Given the description of an element on the screen output the (x, y) to click on. 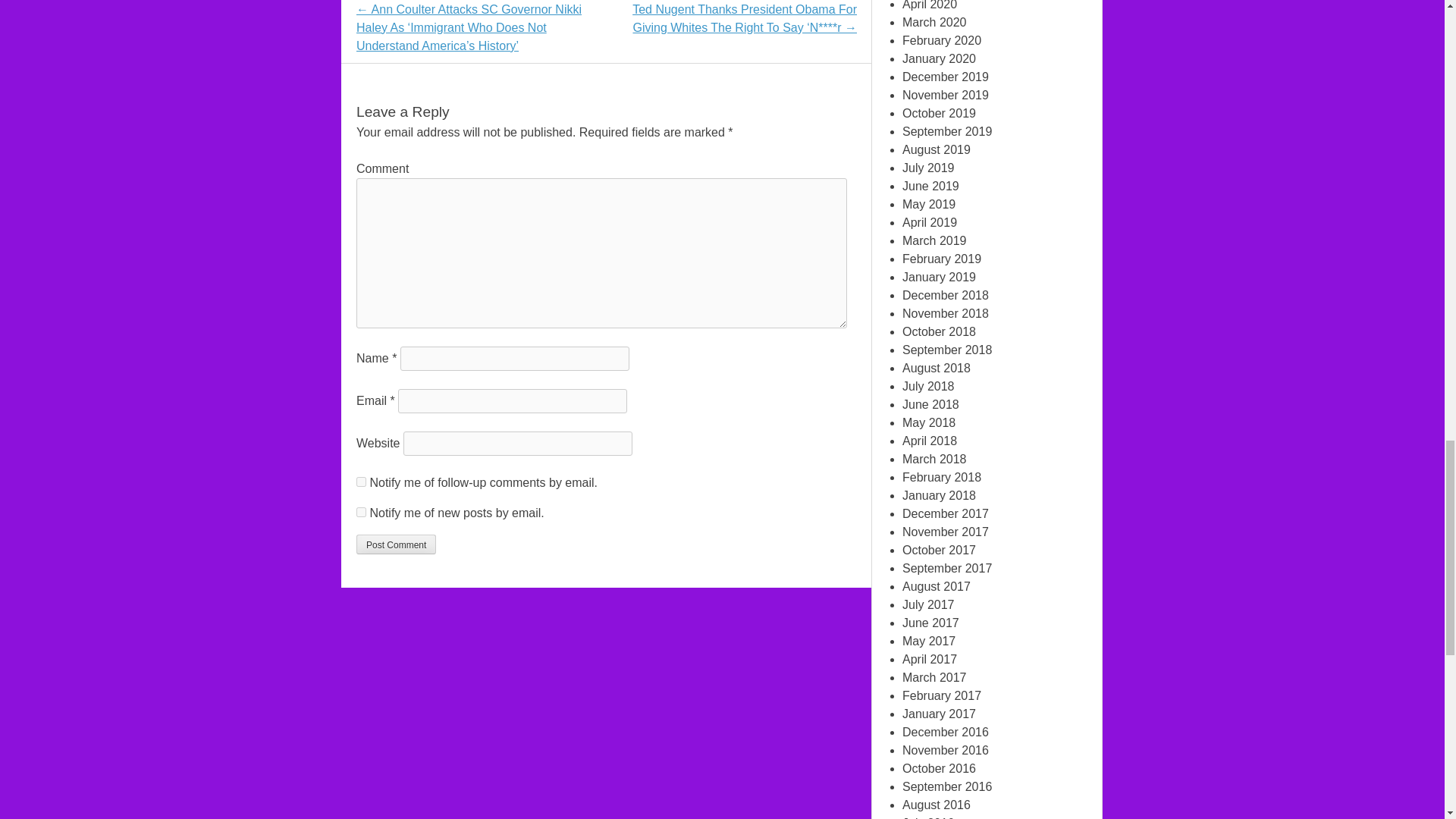
subscribe (361, 511)
Post Comment (395, 544)
subscribe (361, 481)
Post Comment (395, 544)
